Given the description of an element on the screen output the (x, y) to click on. 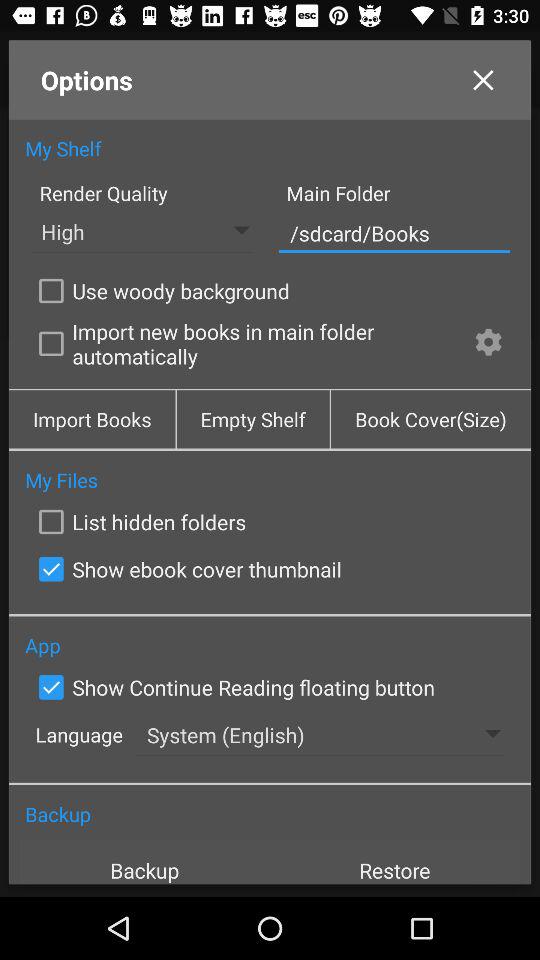
press the checkbox above the import new books icon (159, 290)
